Given the description of an element on the screen output the (x, y) to click on. 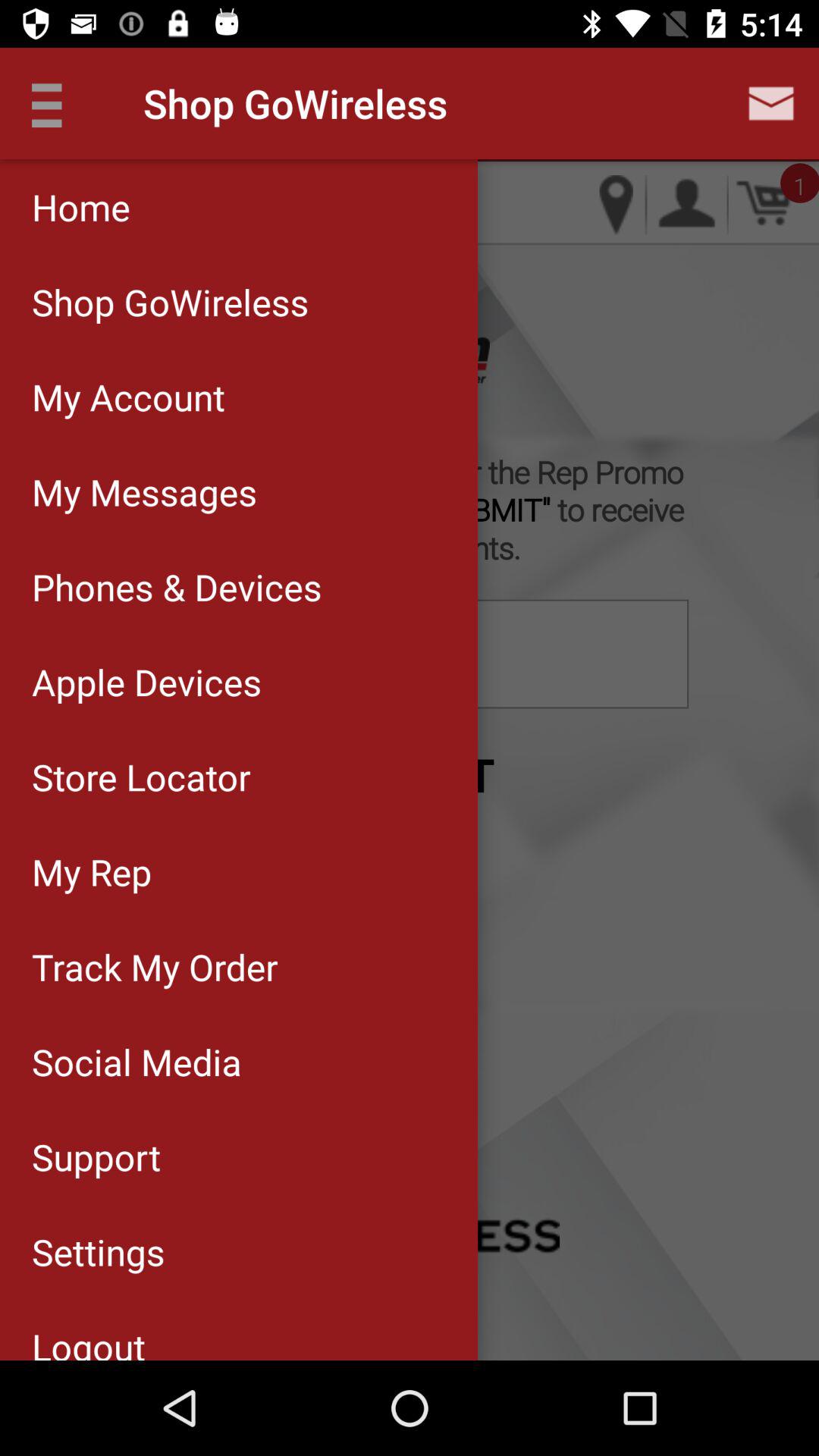
select the item below my messages (238, 586)
